Given the description of an element on the screen output the (x, y) to click on. 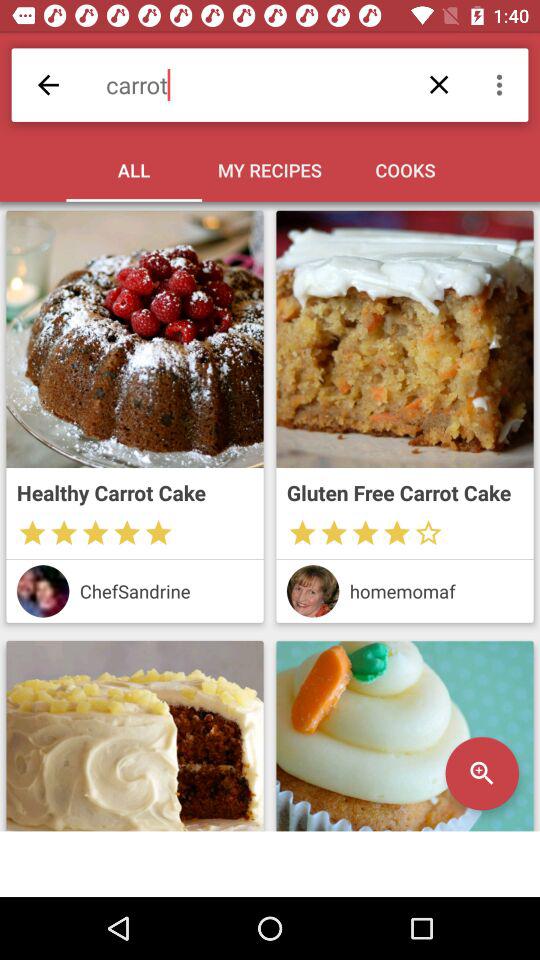
select the cake image (134, 339)
